Given the description of an element on the screen output the (x, y) to click on. 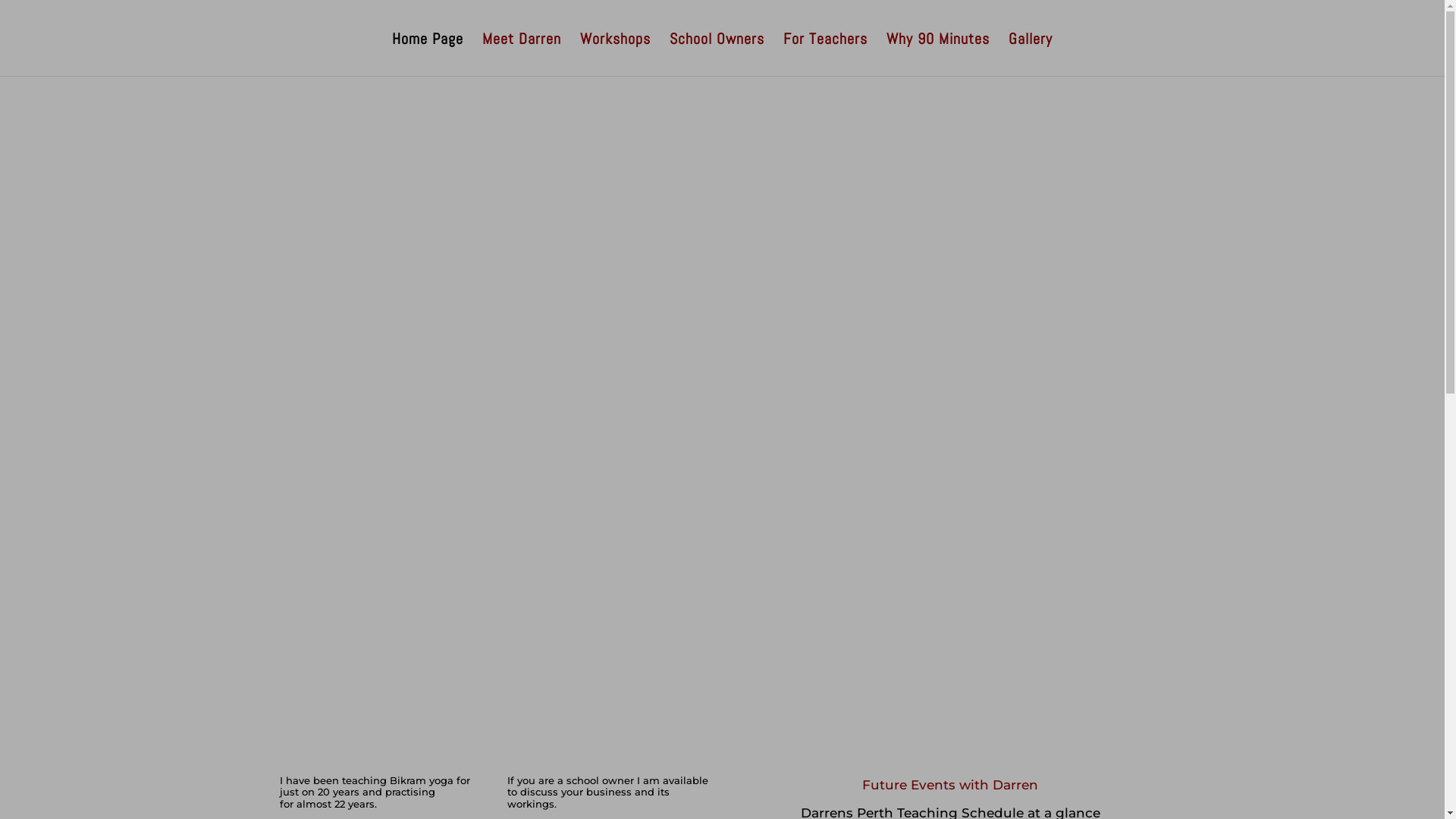
Future Events with Darren Element type: text (950, 784)
Workshops Element type: text (615, 54)
For Teachers Element type: text (825, 54)
Why 90 Minutes Element type: text (937, 54)
Home Page Element type: text (427, 54)
Gallery Element type: text (1030, 54)
Meet Darren Element type: text (521, 54)
School Owners Element type: text (716, 54)
